Given the description of an element on the screen output the (x, y) to click on. 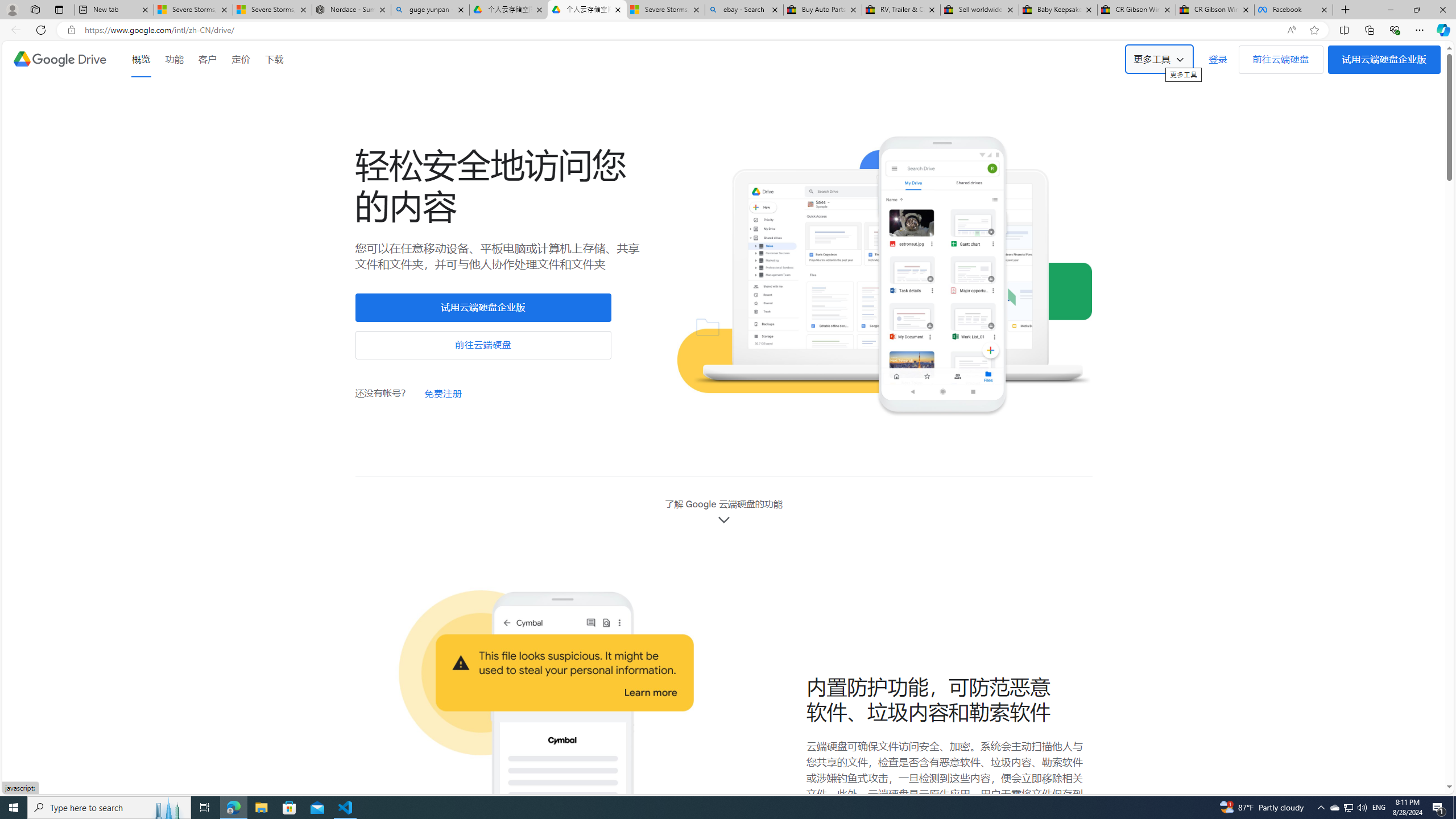
Google Drive (59, 58)
